Given the description of an element on the screen output the (x, y) to click on. 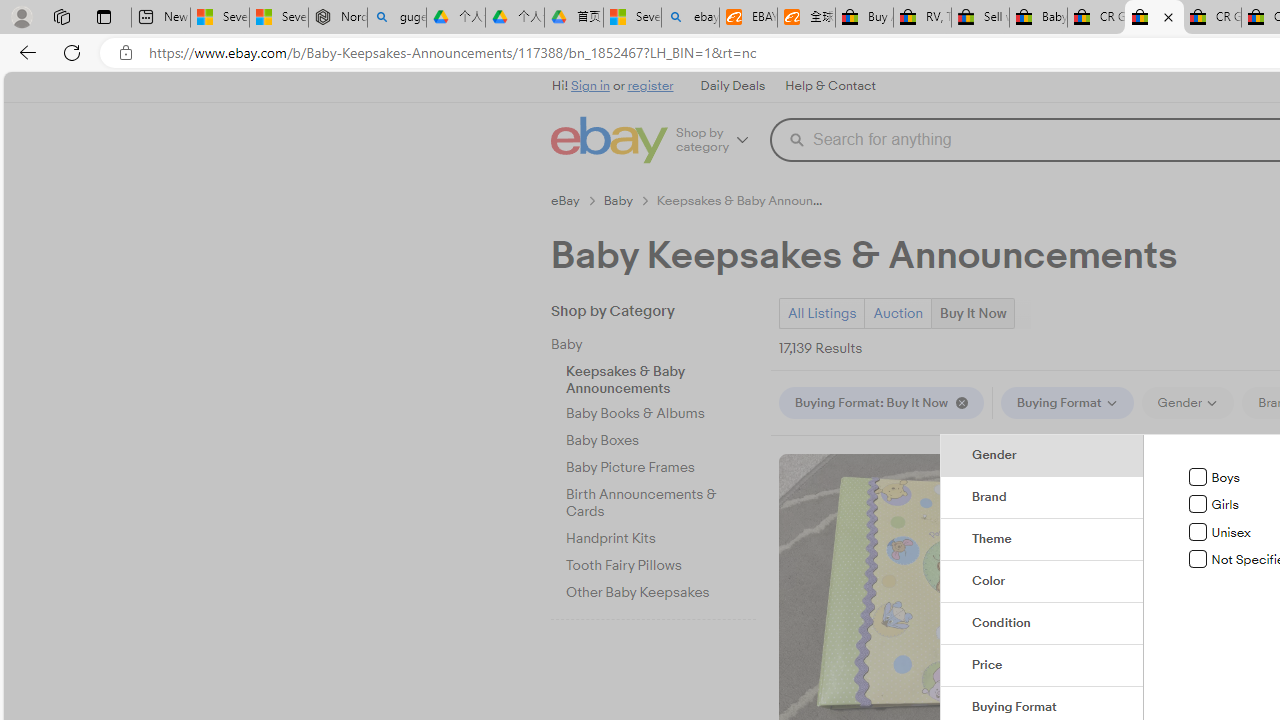
ebay - Search (690, 17)
Workspaces (61, 16)
Unisex (1198, 531)
Theme (1042, 539)
Buy Auto Parts & Accessories | eBay (864, 17)
RV, Trailer & Camper Steps & Ladders for sale | eBay (922, 17)
Baby Keepsakes & Announcements for sale | eBay (1154, 17)
Condition (1042, 624)
Not Specified (1198, 559)
Girls (1198, 504)
